Given the description of an element on the screen output the (x, y) to click on. 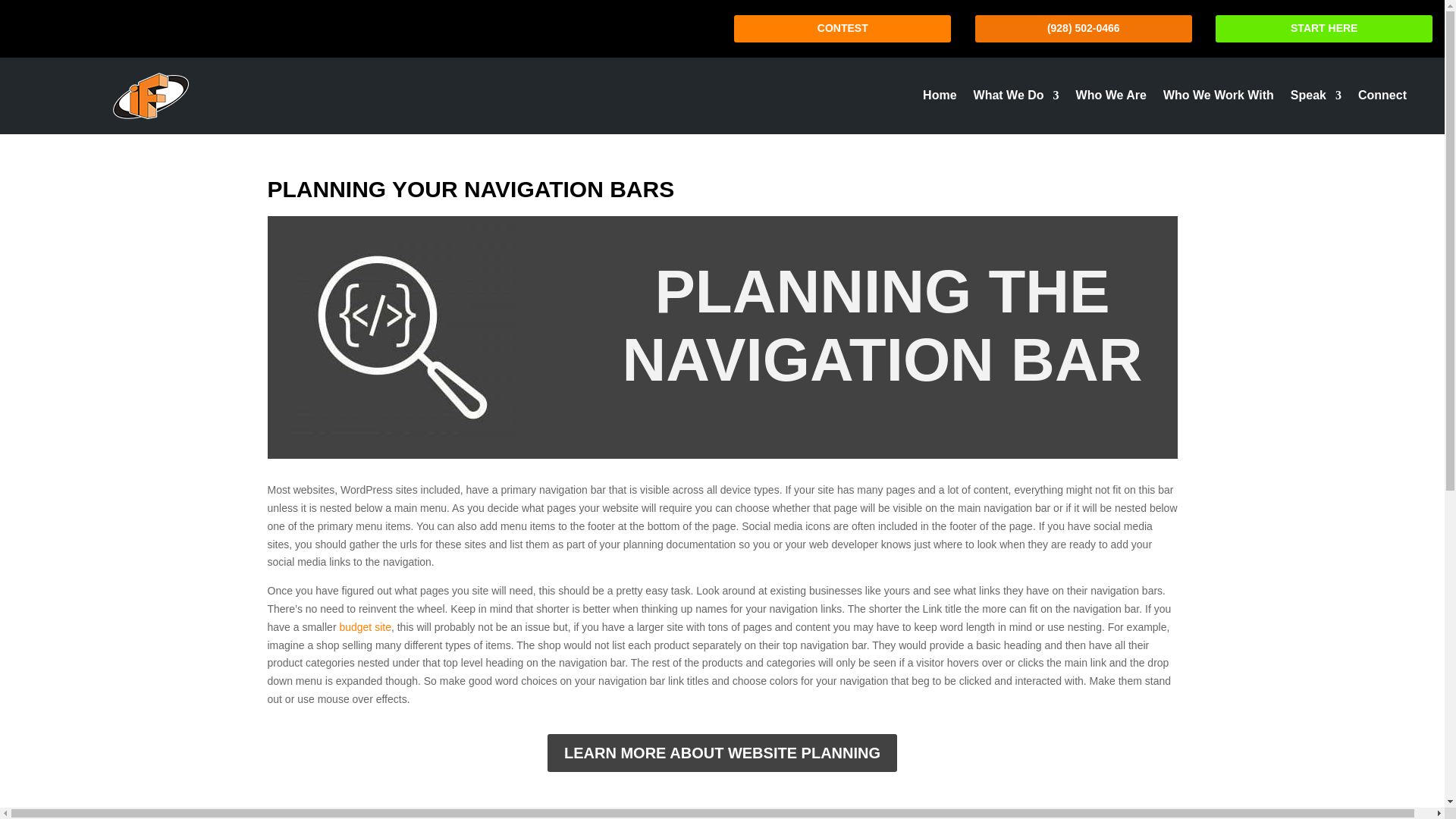
Speak (1315, 98)
Connect (1382, 98)
logo-100x61 (151, 95)
CONTEST (841, 28)
Planning Your Navigation Bars (401, 337)
Home (939, 98)
START HERE (1323, 28)
What We Do (1016, 98)
budget site (365, 626)
Who We Work With (1218, 98)
Who We Are (1111, 98)
